Given the description of an element on the screen output the (x, y) to click on. 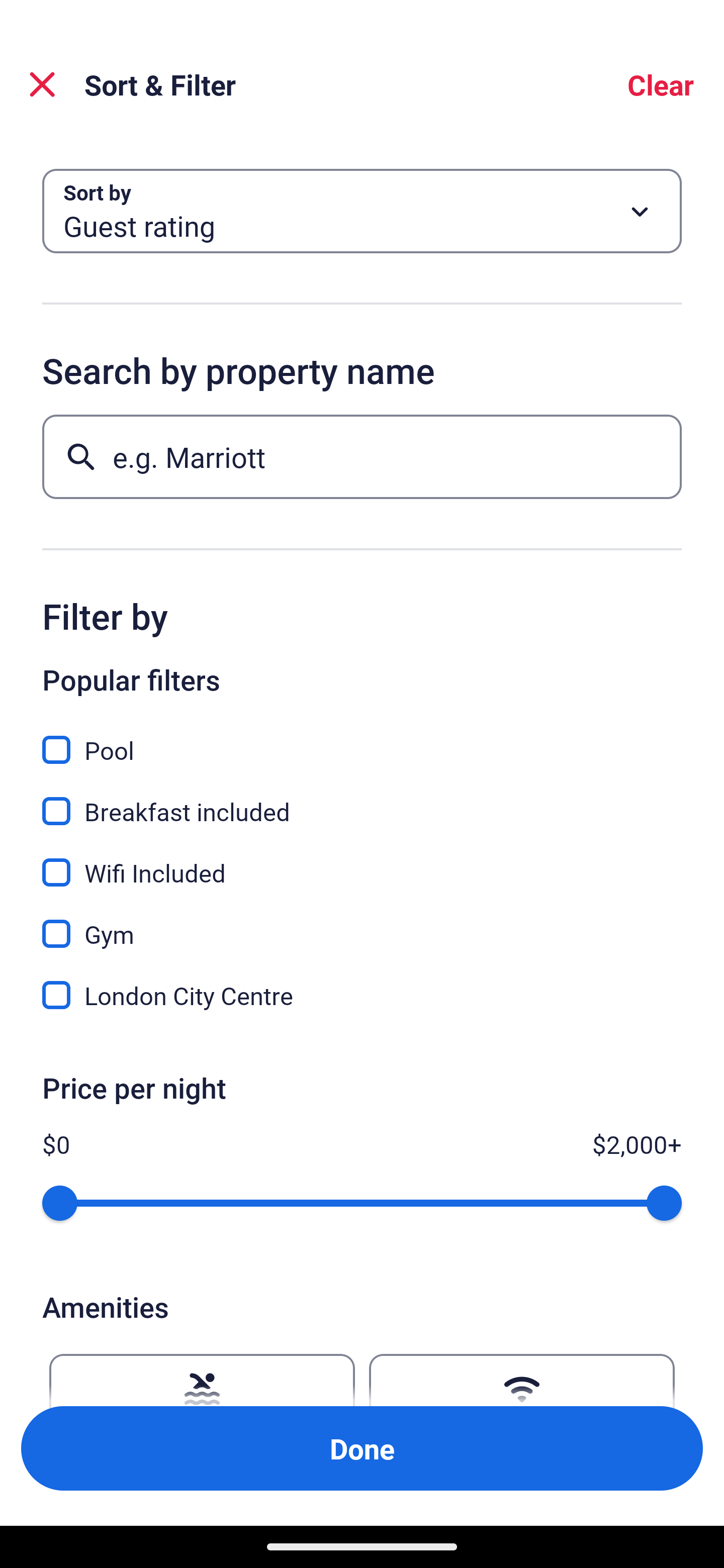
Close Sort and Filter (42, 84)
Clear (660, 84)
Sort by Button Guest rating (361, 211)
e.g. Marriott Button (361, 455)
Pool, Pool (361, 738)
Breakfast included, Breakfast included (361, 800)
Wifi Included, Wifi Included (361, 861)
Gym, Gym (361, 922)
London City Centre, London City Centre (361, 995)
Apply and close Sort and Filter Done (361, 1448)
